Given the description of an element on the screen output the (x, y) to click on. 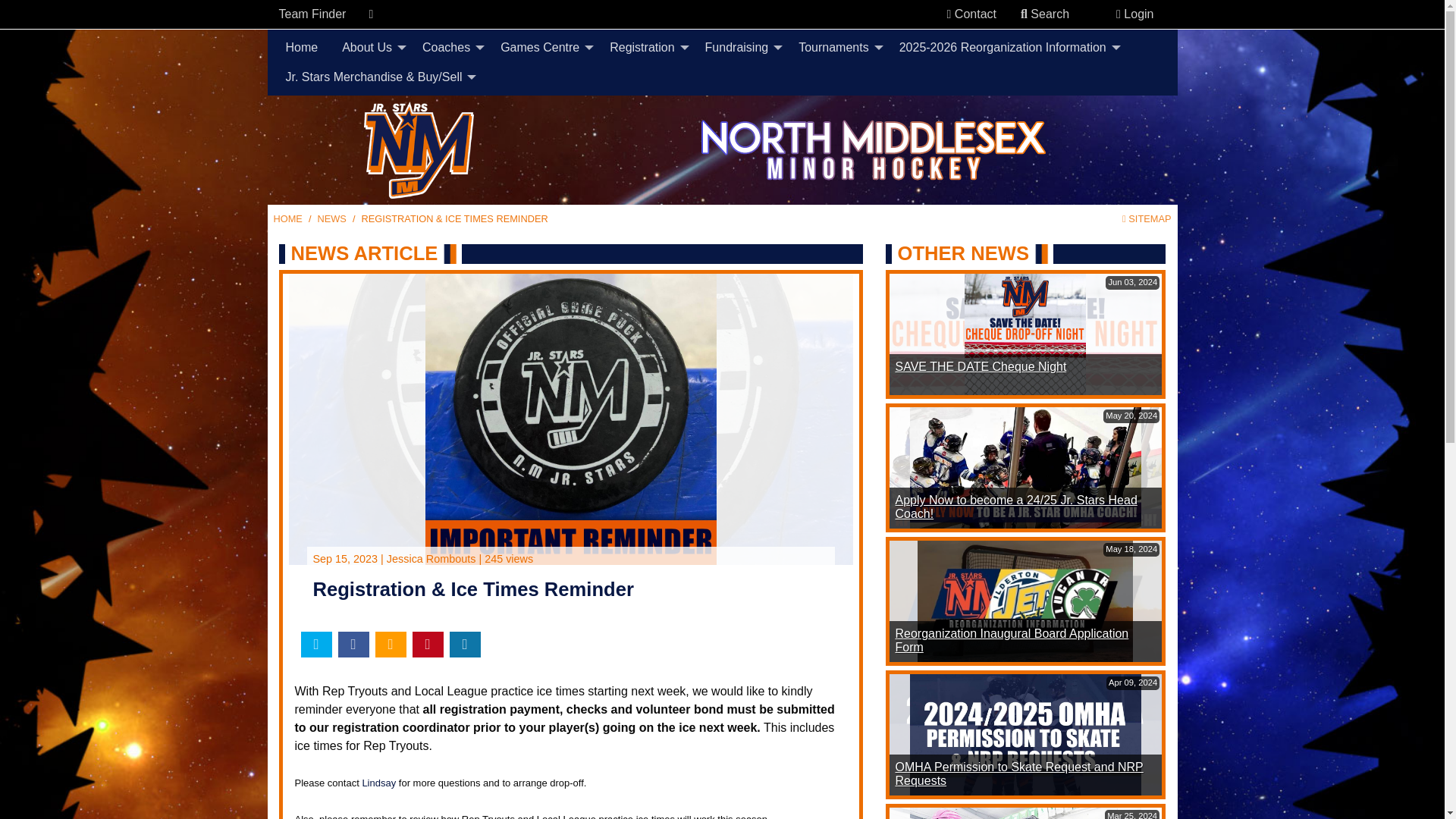
Main Home Page (287, 218)
Coaches (448, 47)
List of News (331, 218)
Home (301, 47)
 Login (1134, 14)
Go to the sitemap page for this website (1146, 218)
Games Centre (541, 47)
 Contact (971, 14)
About Us (370, 47)
read more of this item (980, 366)
Registration (644, 47)
read more of this item (1016, 506)
Team Finder (312, 13)
 Search (1045, 14)
